Given the description of an element on the screen output the (x, y) to click on. 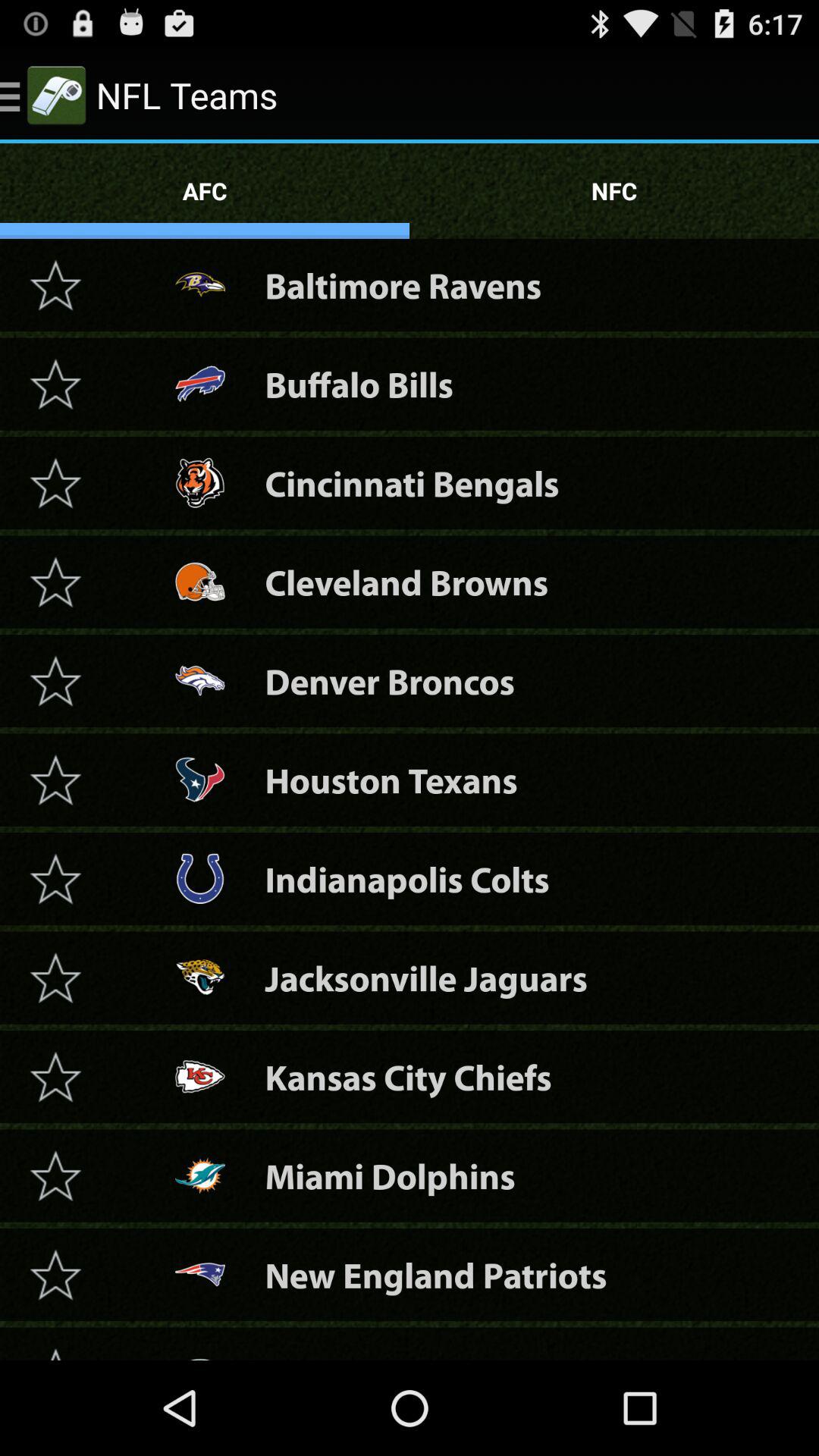
mark as favorite (55, 1076)
